Given the description of an element on the screen output the (x, y) to click on. 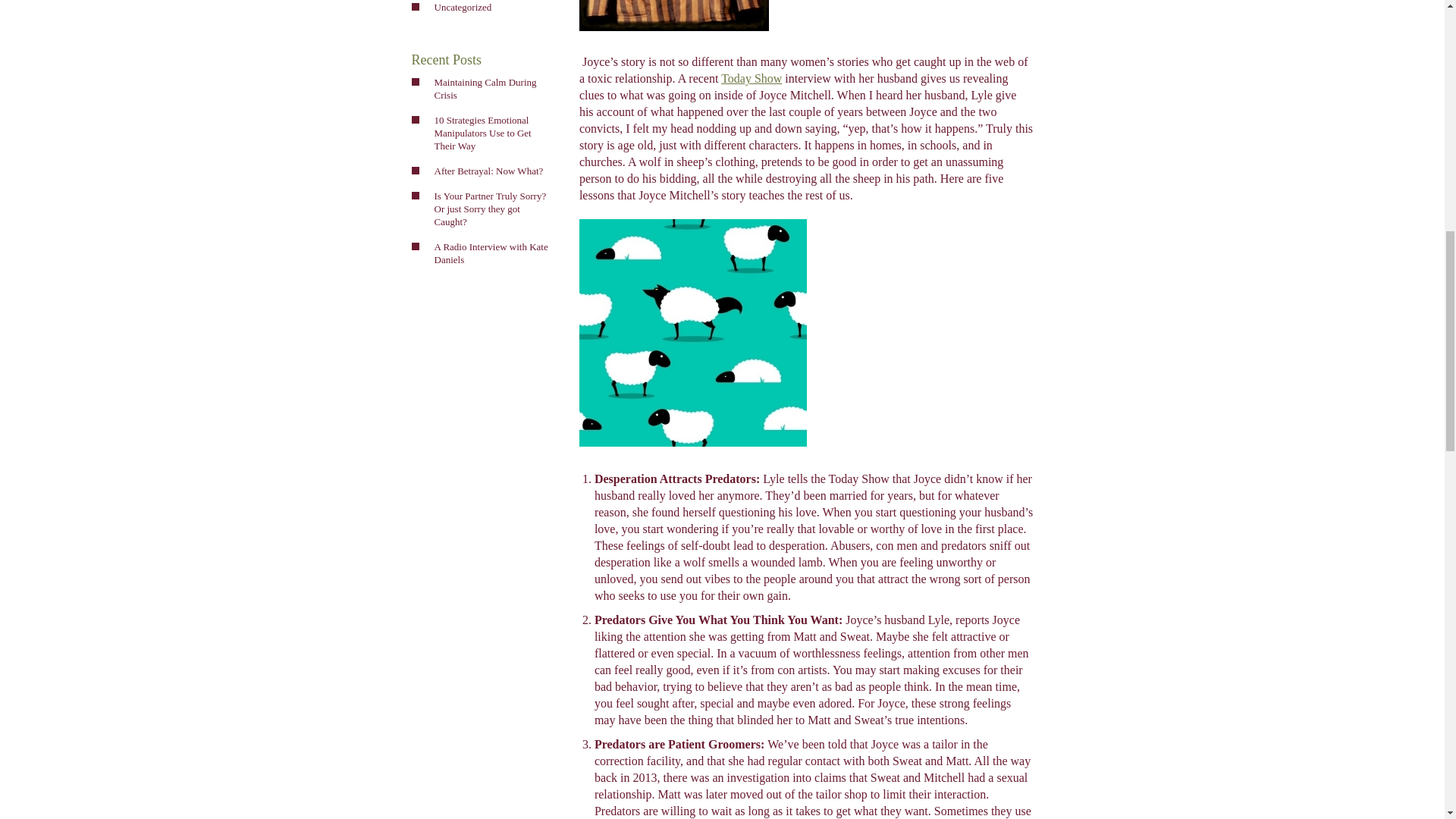
After Betrayal: Now What? (490, 170)
10 Strategies Emotional Manipulators Use to Get Their Way (490, 132)
Uncategorized (490, 8)
Today Show (750, 78)
A Radio Interview with Kate Daniels (490, 253)
Maintaining Calm During Crisis (490, 88)
Is Your Partner Truly Sorry? Or just Sorry they got Caught? (490, 208)
